Given the description of an element on the screen output the (x, y) to click on. 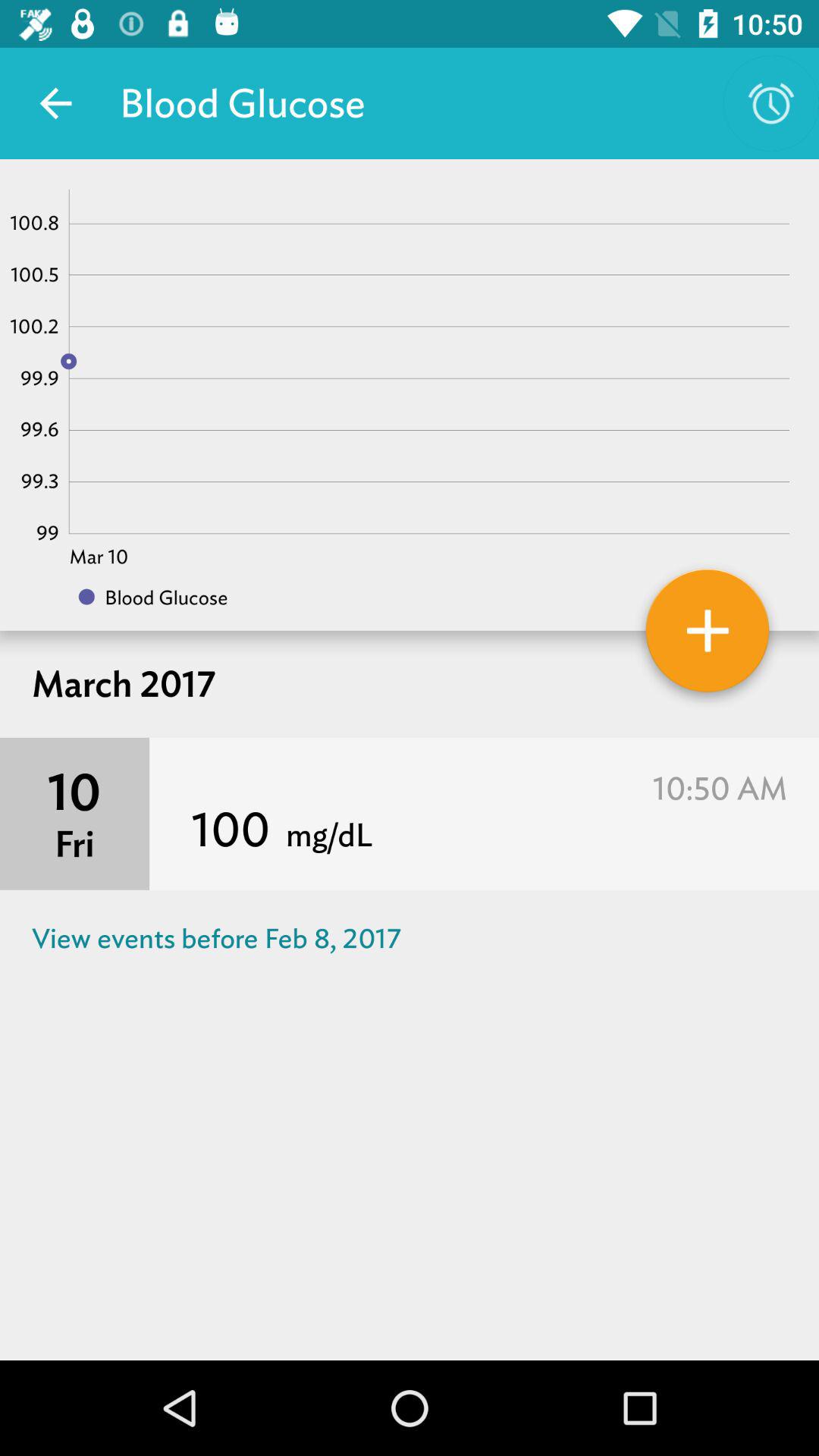
turn off item next to the blood glucose app (55, 103)
